Given the description of an element on the screen output the (x, y) to click on. 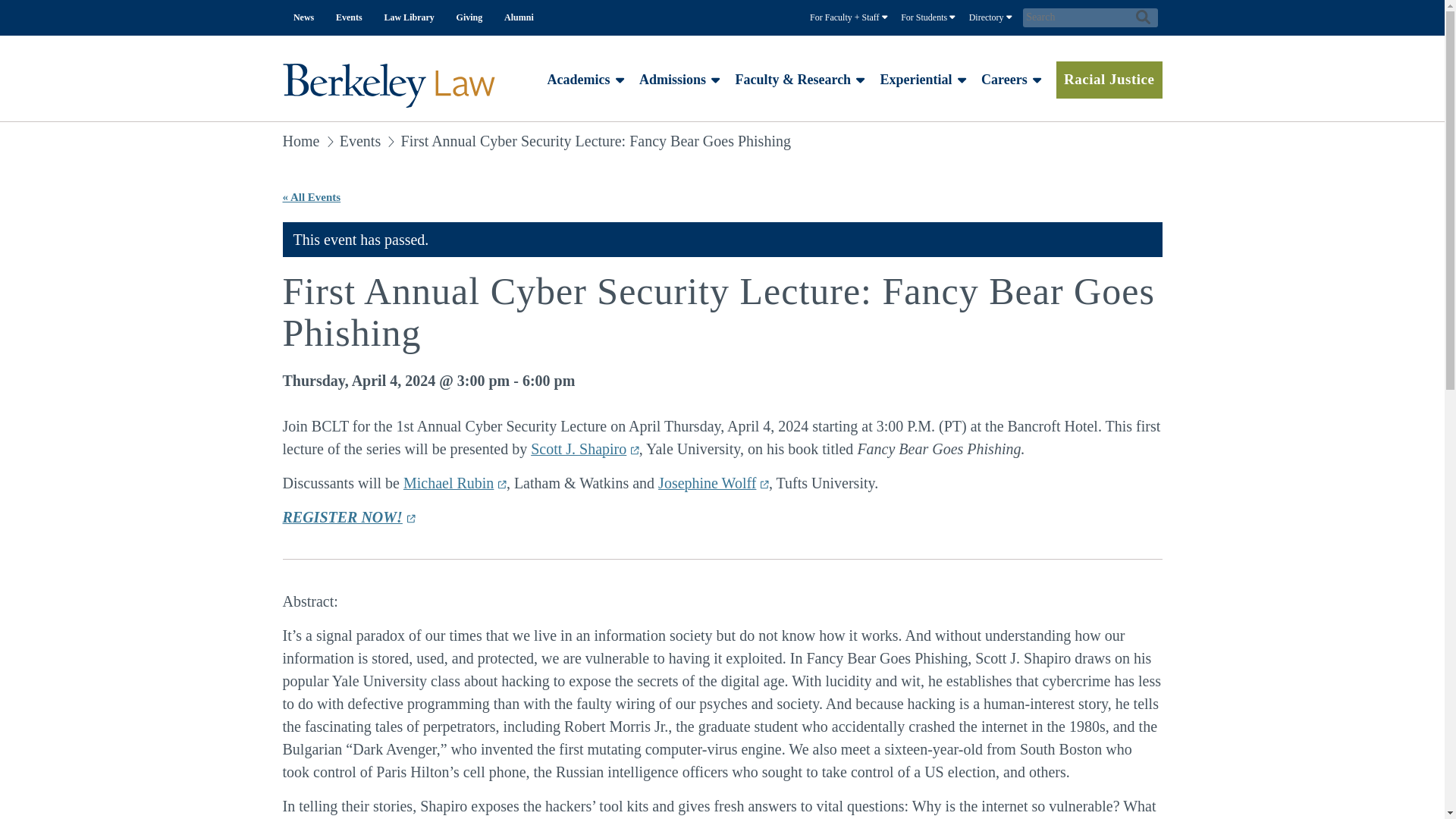
For Students (927, 18)
Alumni (518, 18)
News (303, 18)
Law Library (408, 18)
Events (348, 18)
Giving (469, 18)
